Given the description of an element on the screen output the (x, y) to click on. 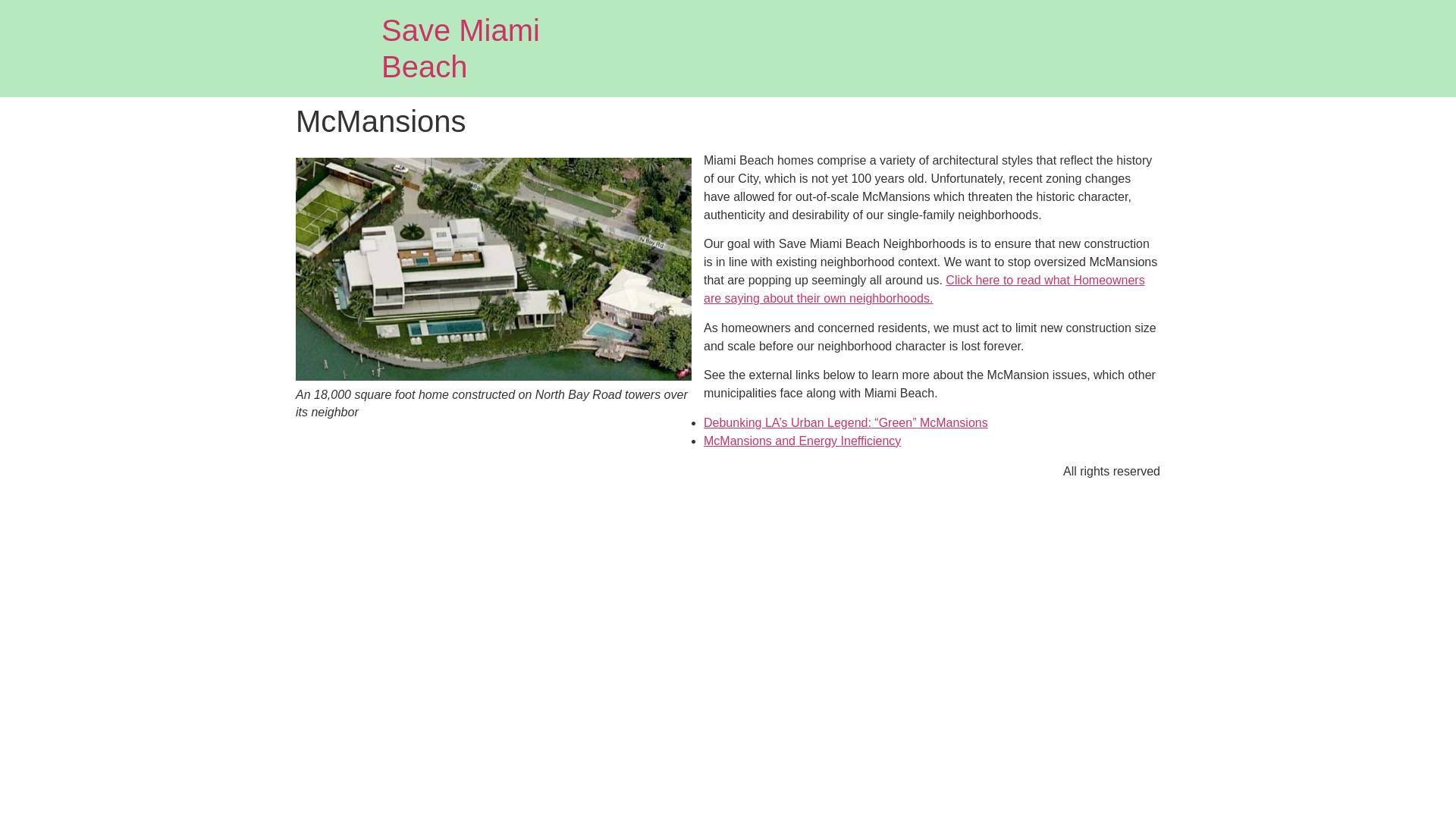
Home (460, 48)
Save Miami Beach (460, 48)
McMansions and Energy Inefficiency (802, 440)
